Given the description of an element on the screen output the (x, y) to click on. 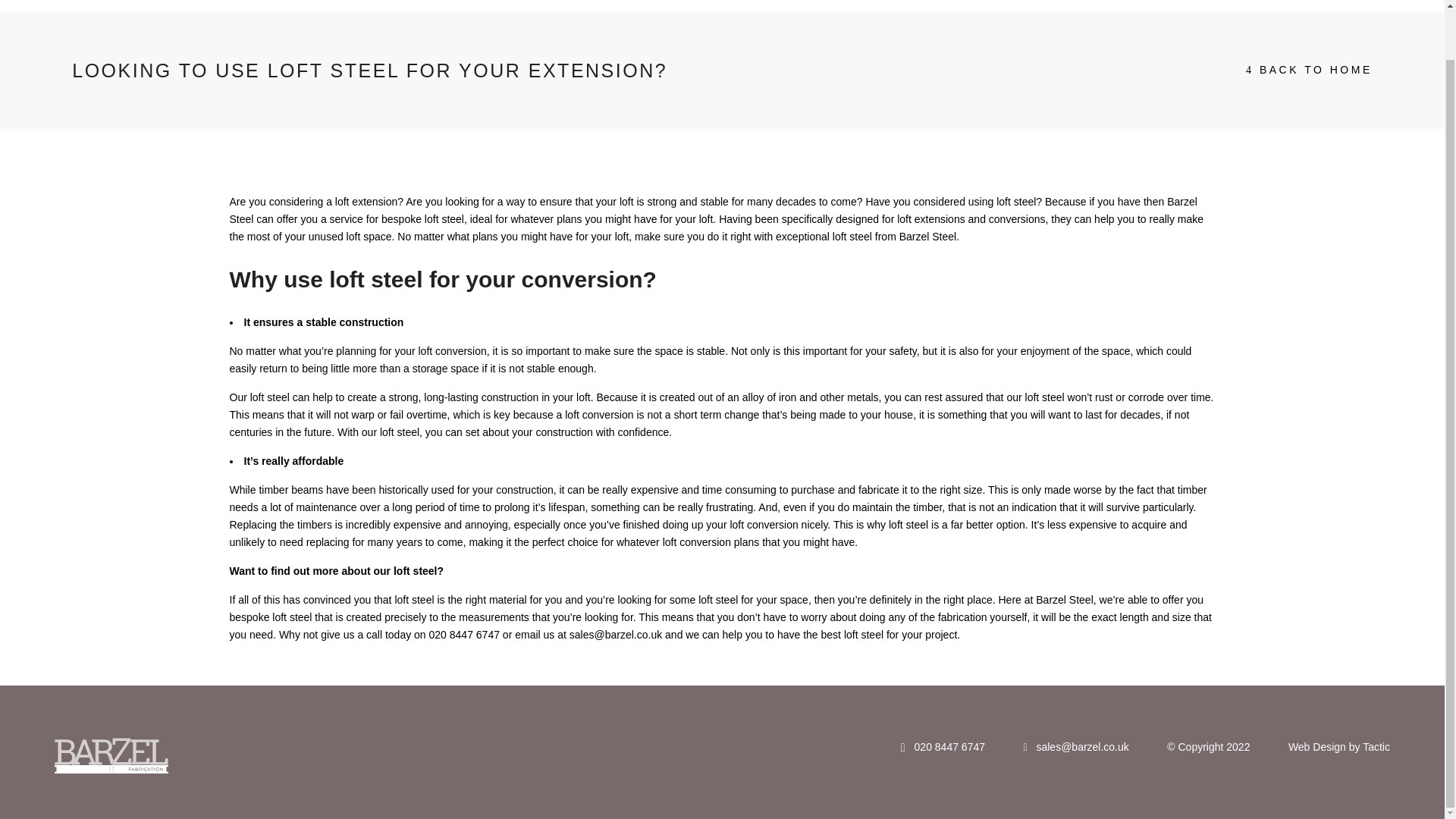
Web Design by Tactic (1339, 746)
Barzel Steel (712, 210)
BACK TO HOME (1309, 69)
020 8447 6747 (943, 746)
